Given the description of an element on the screen output the (x, y) to click on. 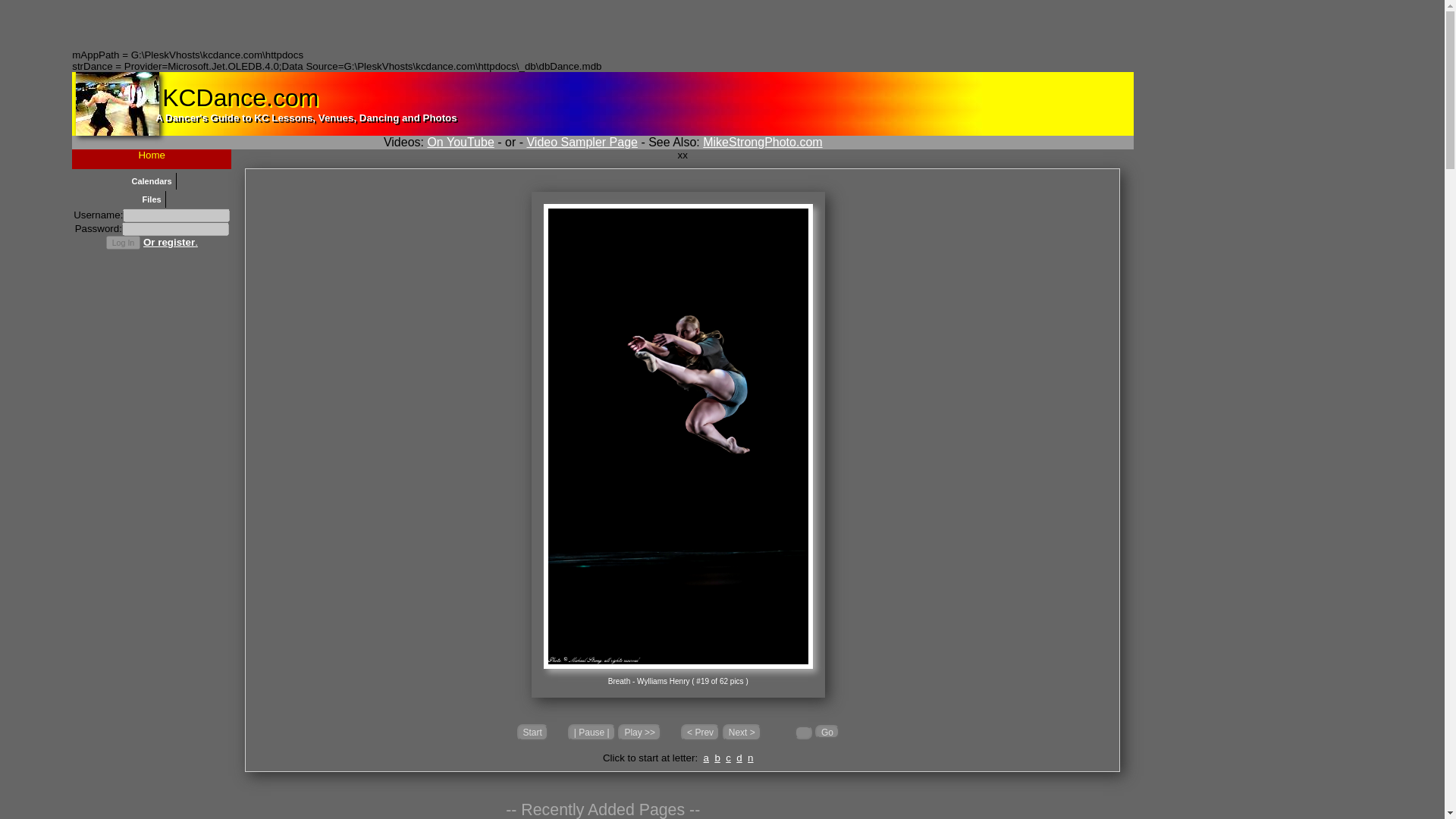
MikeStrongPhoto.com (762, 141)
Calendars (152, 180)
Video Sampler Page (581, 141)
Or register. (170, 242)
Go (827, 731)
Start (532, 732)
Log In (123, 242)
Log In (123, 242)
Files (151, 199)
On YouTube (459, 141)
